Given the description of an element on the screen output the (x, y) to click on. 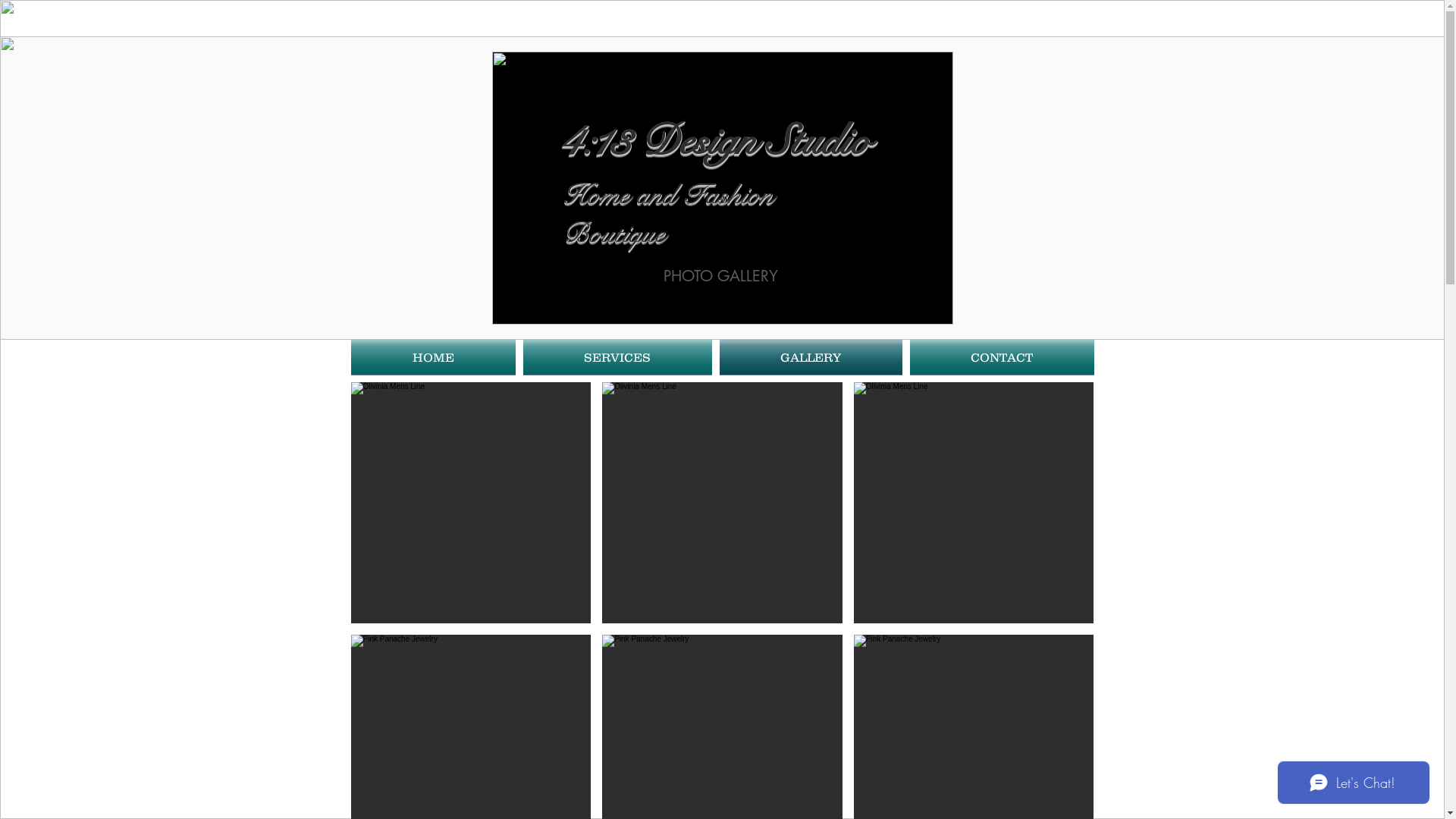
SERVICES Element type: text (616, 356)
GALLERY Element type: text (810, 356)
CONTACT Element type: text (999, 356)
HOME Element type: text (434, 356)
